Given the description of an element on the screen output the (x, y) to click on. 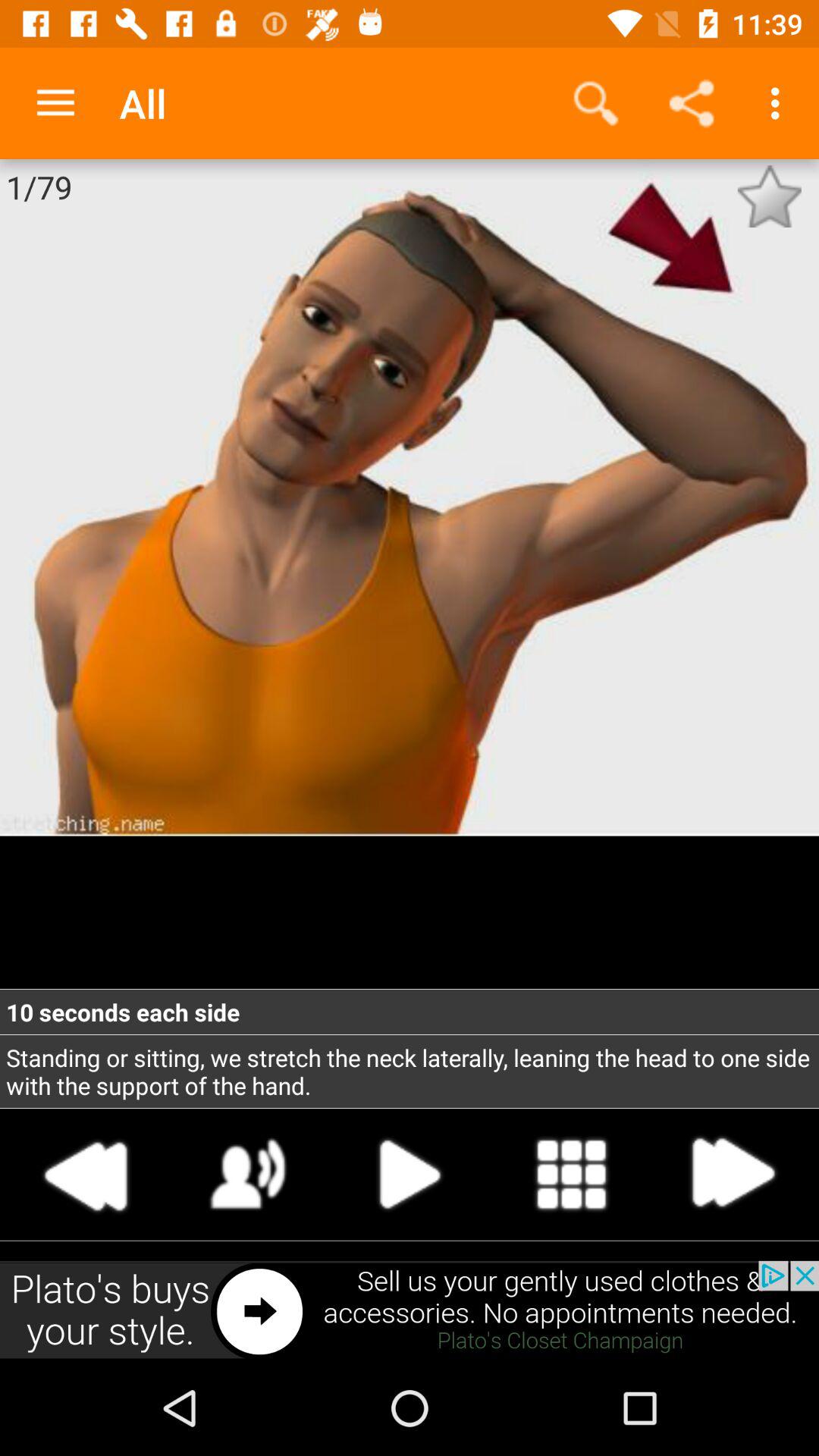
select the option with three dots on the top right corner (779, 103)
go to the share button (691, 103)
select the pause button (409, 1174)
click on forward button (732, 1174)
second icon of left of play button at the bottom (86, 1174)
cleck the star button which is in the right corner (769, 195)
